Given the description of an element on the screen output the (x, y) to click on. 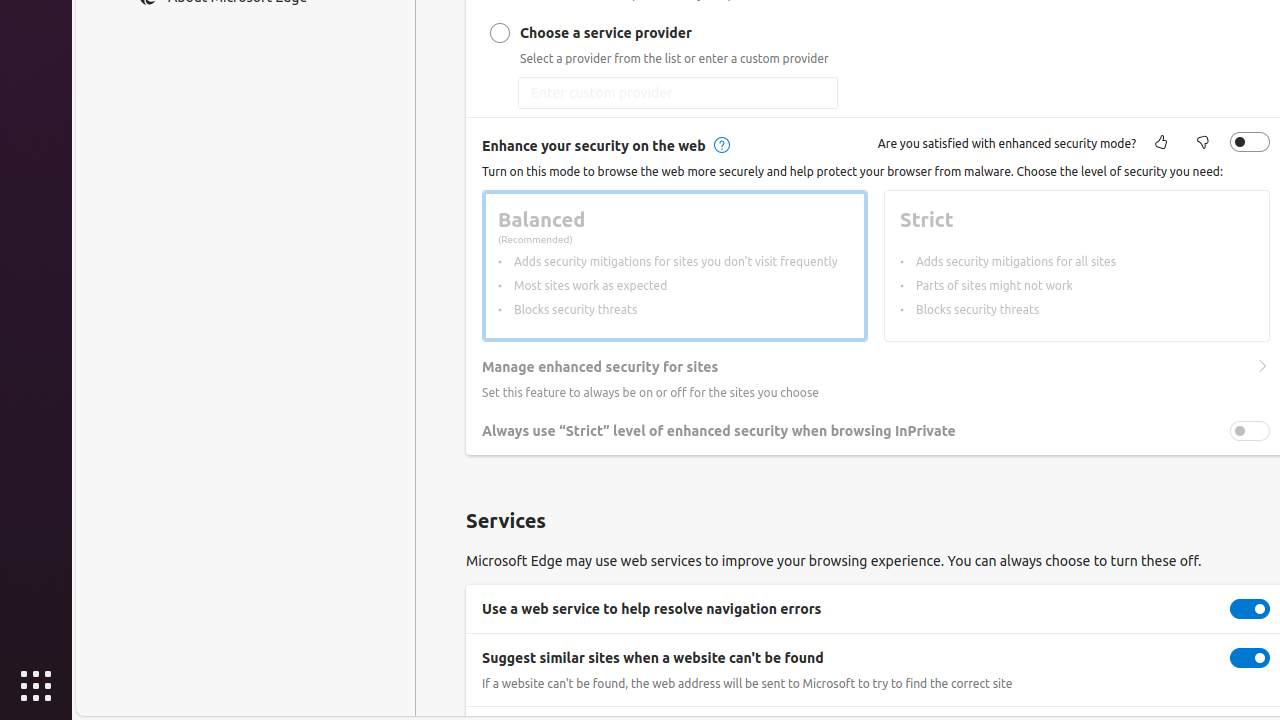
Enhance your security on the web Element type: check-box (1250, 142)
Learn more about enhanced security mode, learn more Element type: push-button (719, 146)
Show Applications Element type: toggle-button (36, 686)
Always use “Strict” level of enhanced security when browsing InPrivate Element type: check-box (1250, 431)
Use a web service to help resolve navigation errors Element type: check-box (1250, 609)
